Given the description of an element on the screen output the (x, y) to click on. 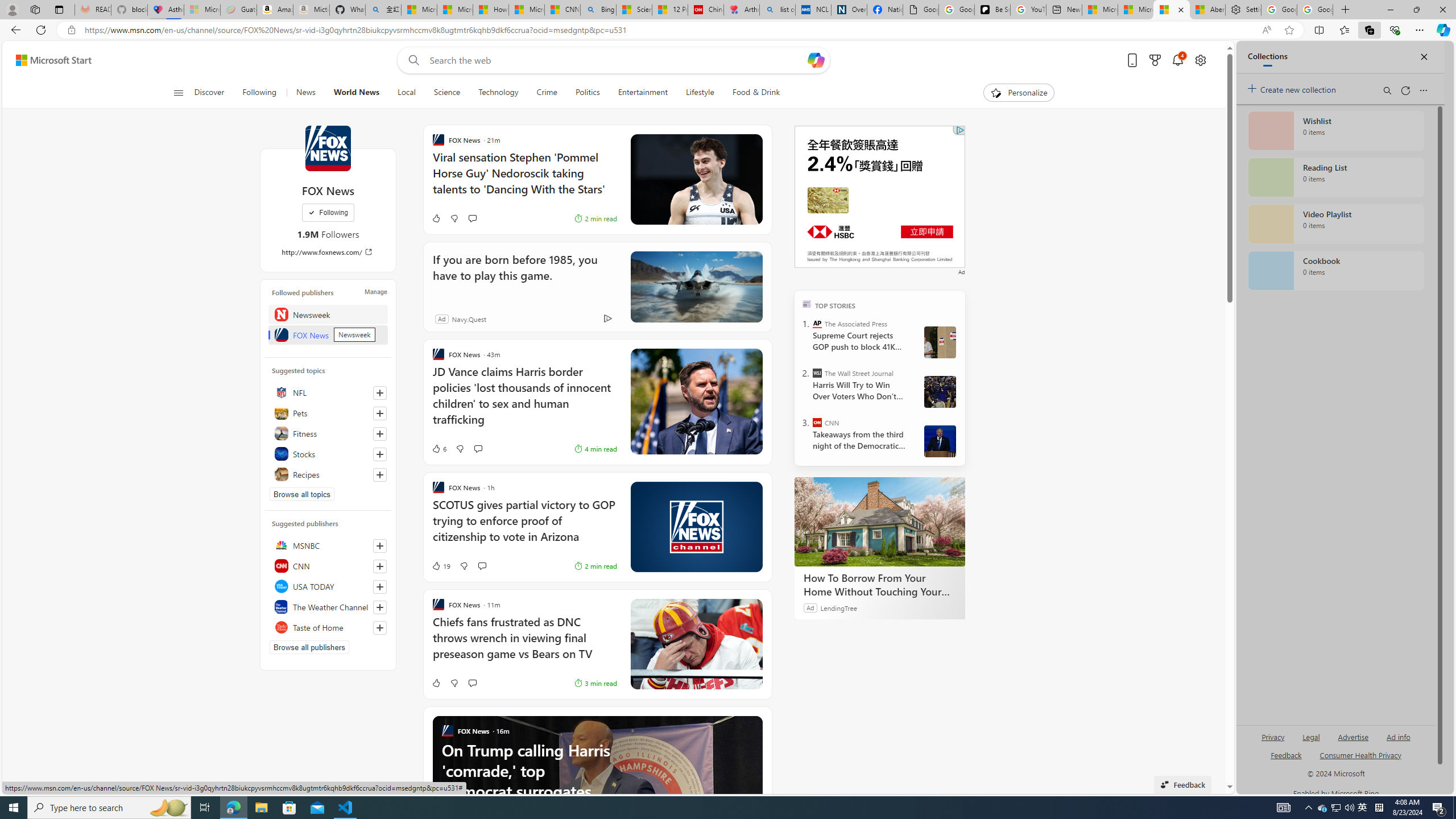
The Associated Press (816, 323)
Navy.Quest (468, 318)
MSNBC (327, 545)
Pets (327, 412)
